Given the description of an element on the screen output the (x, y) to click on. 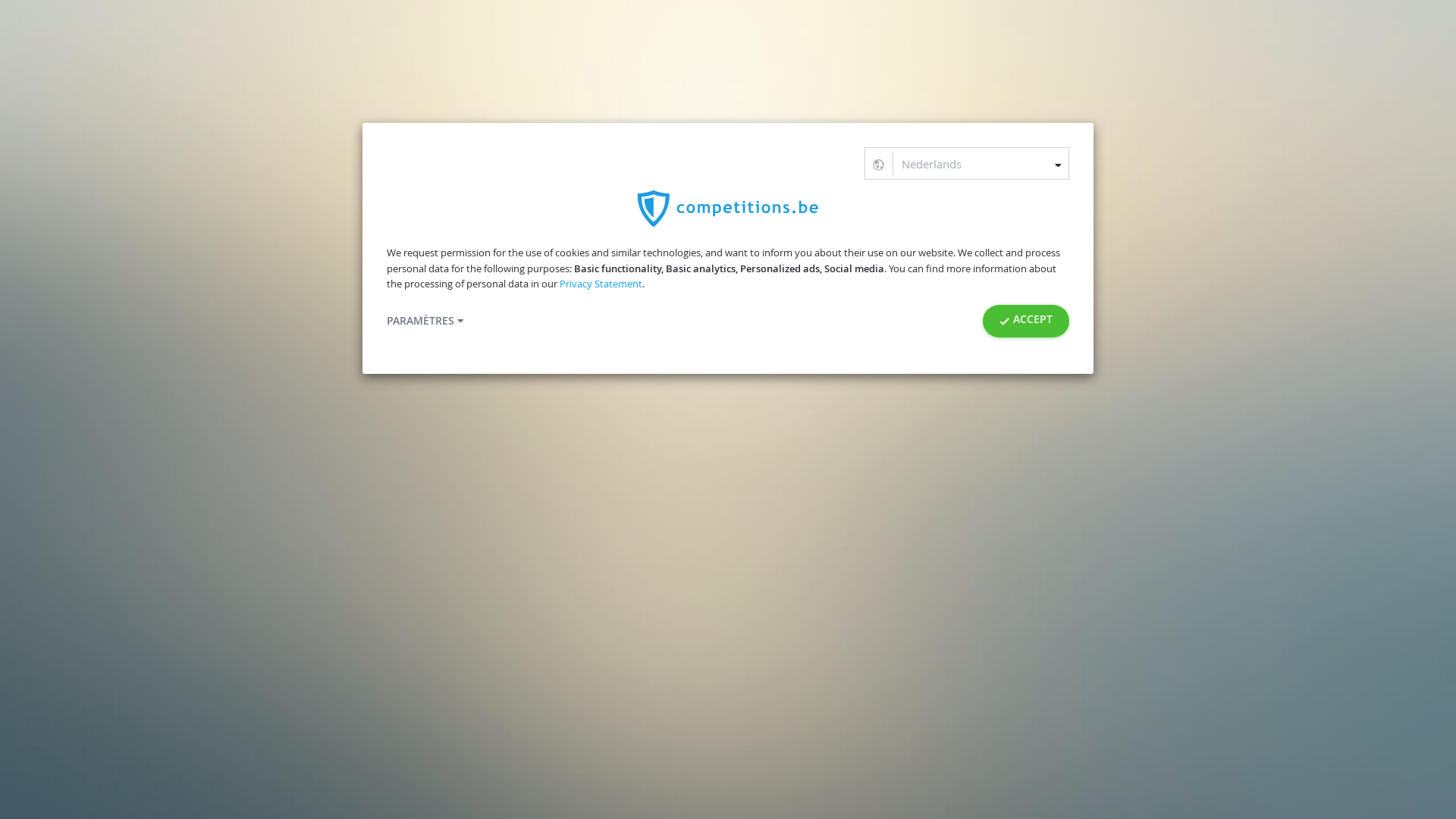
Privacy Statement Element type: text (600, 283)
ACCEPT Element type: text (1025, 320)
